Given the description of an element on the screen output the (x, y) to click on. 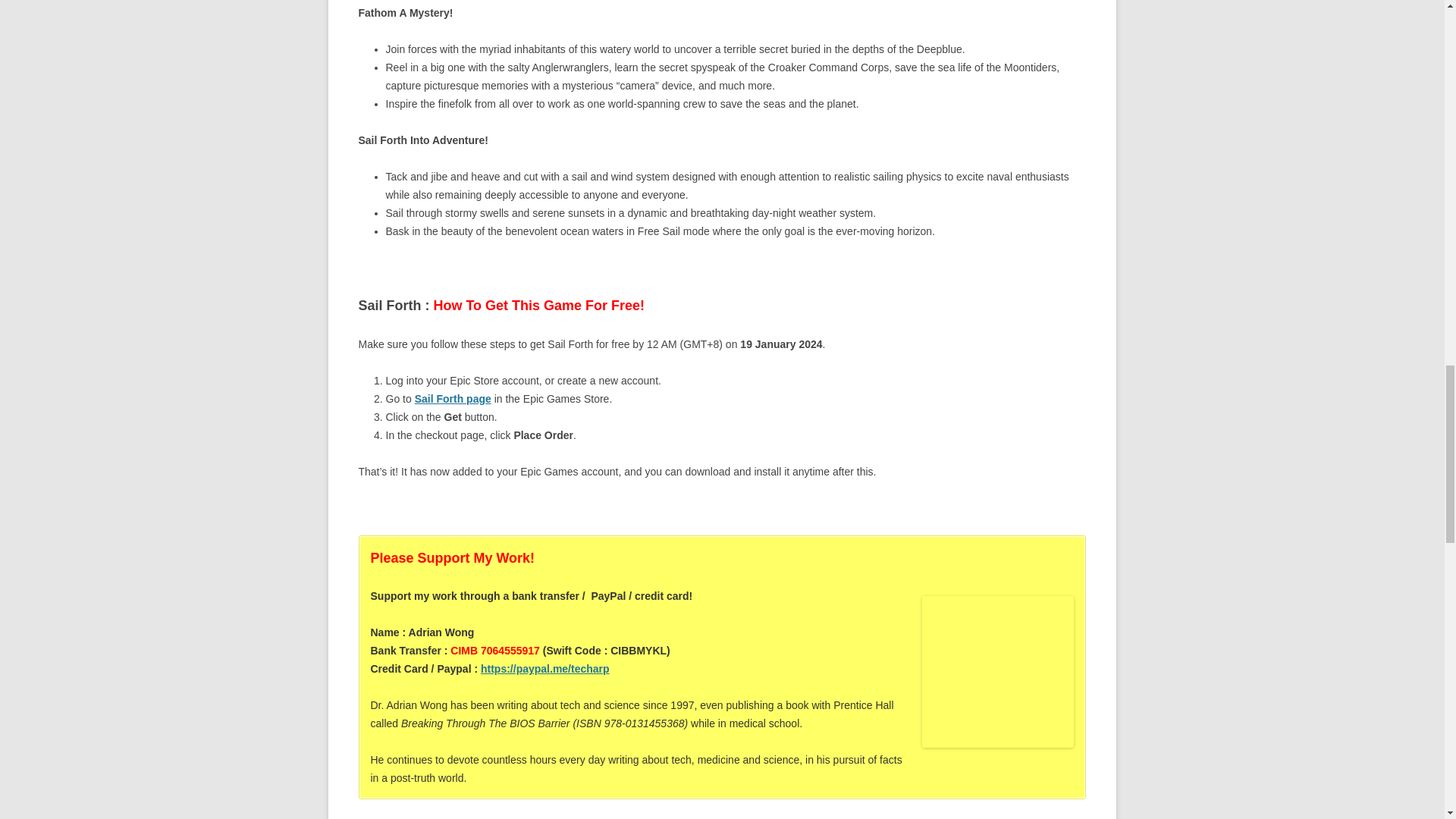
Sail Forth page (453, 398)
